Given the description of an element on the screen output the (x, y) to click on. 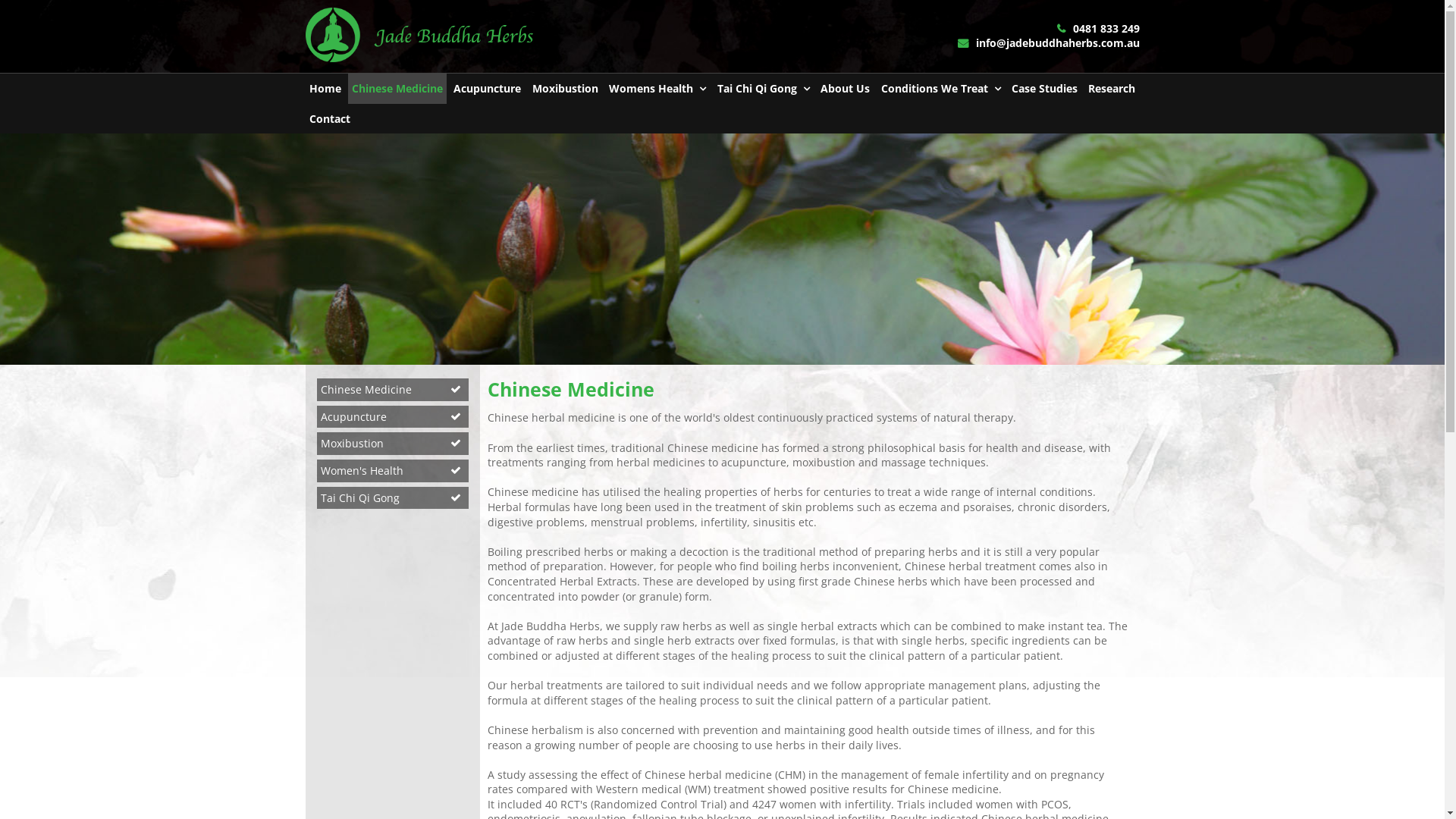
Moxibustion Element type: text (392, 443)
Conditions We Treat Element type: text (940, 88)
info@jadebuddhaherbs.com.au Element type: text (1048, 42)
Womens Health Element type: text (657, 88)
Tai Chi Qi Gong Element type: text (763, 88)
Acupuncture Element type: text (486, 88)
Home Element type: text (324, 88)
Research Element type: text (1111, 88)
Contact Element type: text (328, 118)
Chinese Medicine Element type: text (392, 389)
Acupuncture Element type: text (392, 416)
Chinese Medicine Element type: text (397, 88)
Moxibustion Element type: text (565, 88)
Case Studies Element type: text (1044, 88)
Tai Chi Qi Gong Element type: text (392, 497)
About Us Element type: text (844, 88)
Women's Health Element type: text (392, 470)
